Given the description of an element on the screen output the (x, y) to click on. 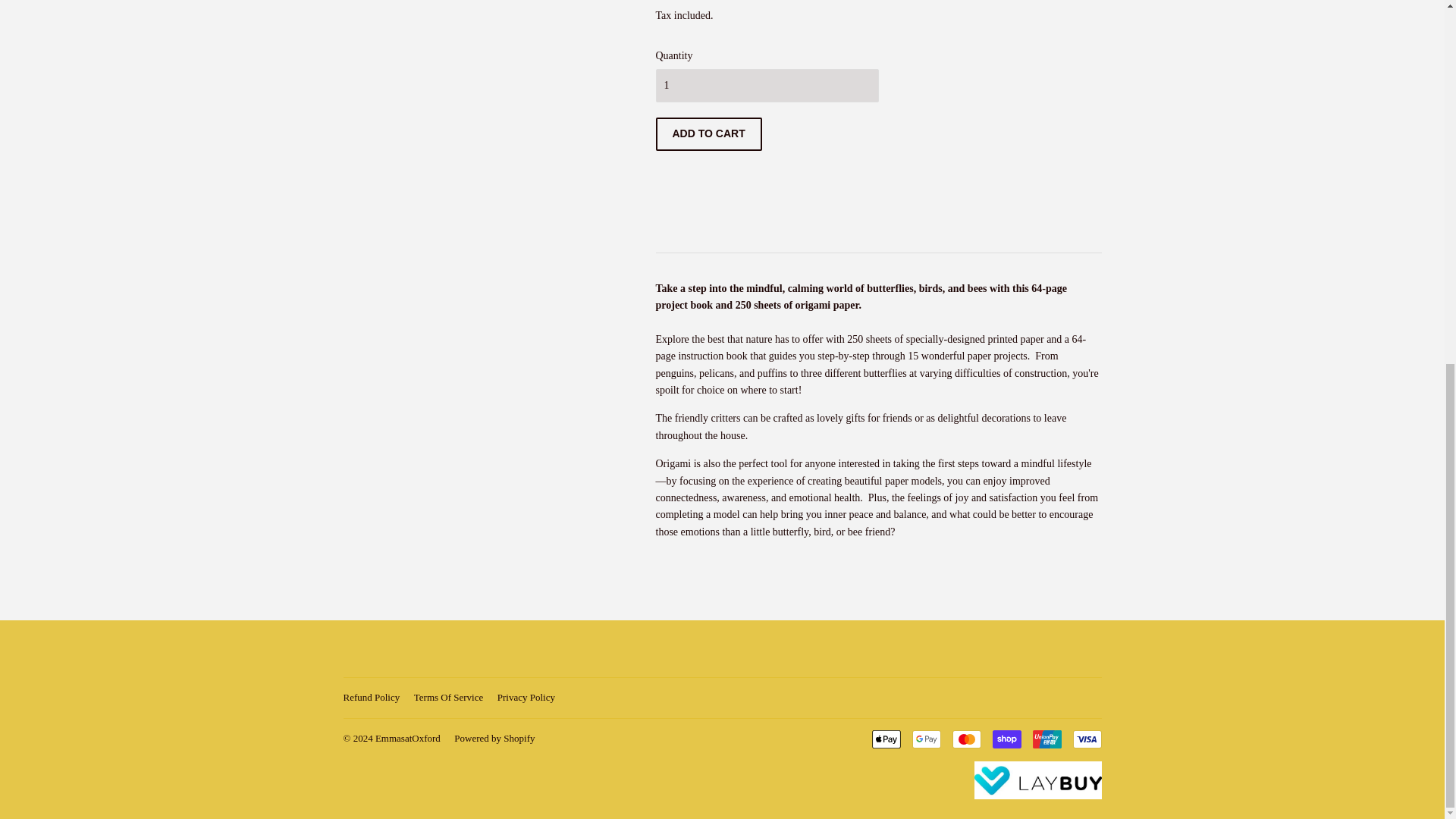
Apple Pay (886, 739)
Google Pay (925, 739)
Union Pay (1046, 739)
Visa (1085, 739)
Shop Pay (1005, 739)
1 (766, 85)
Mastercard (966, 739)
